Given the description of an element on the screen output the (x, y) to click on. 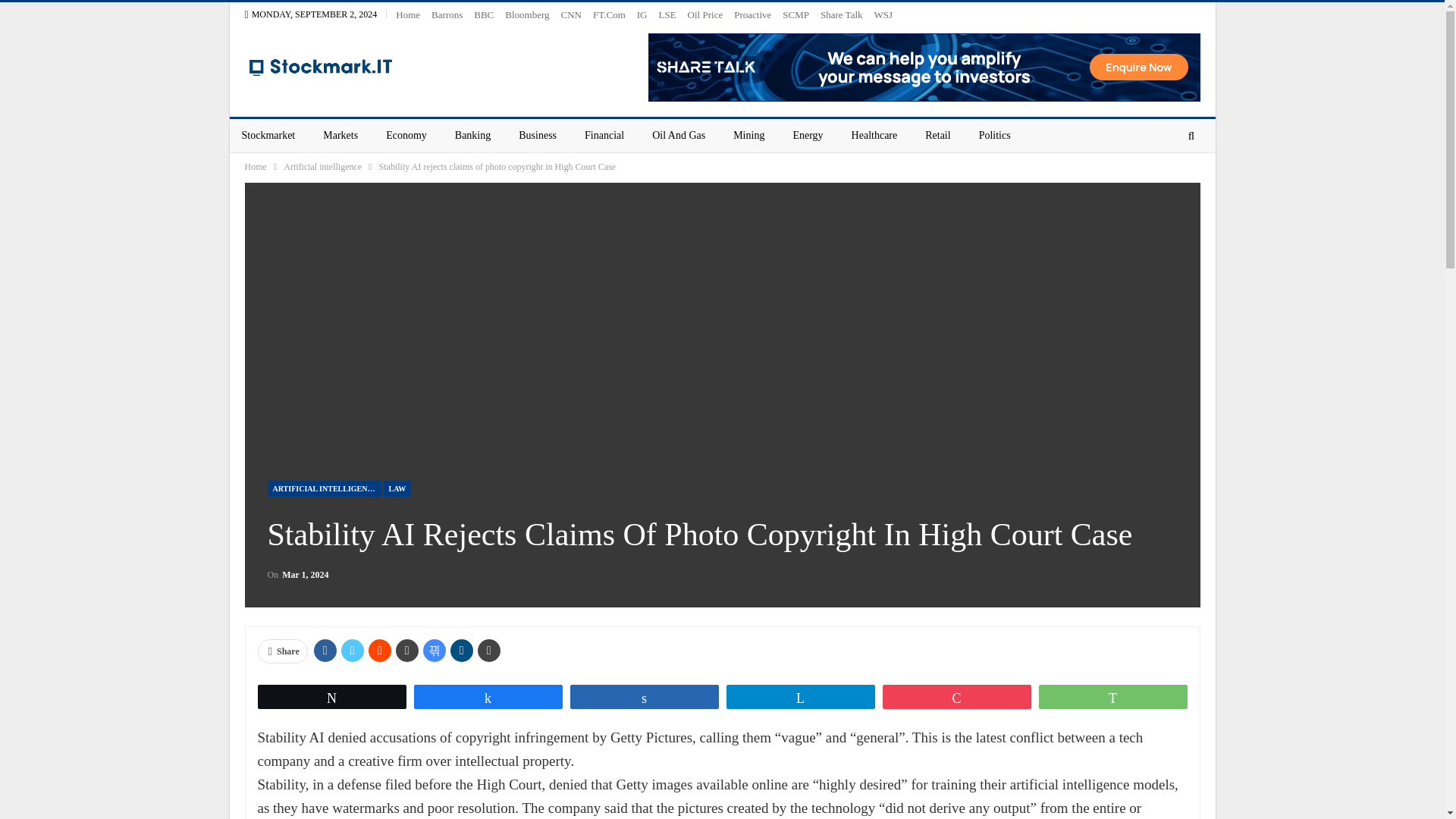
LAW (398, 488)
LSE (666, 14)
IG (642, 14)
Retail (937, 135)
Oil And Gas (678, 135)
Proactive (752, 14)
Financial (604, 135)
SCMP (796, 14)
Bloomberg (526, 14)
Artificial intelligence (322, 166)
